Given the description of an element on the screen output the (x, y) to click on. 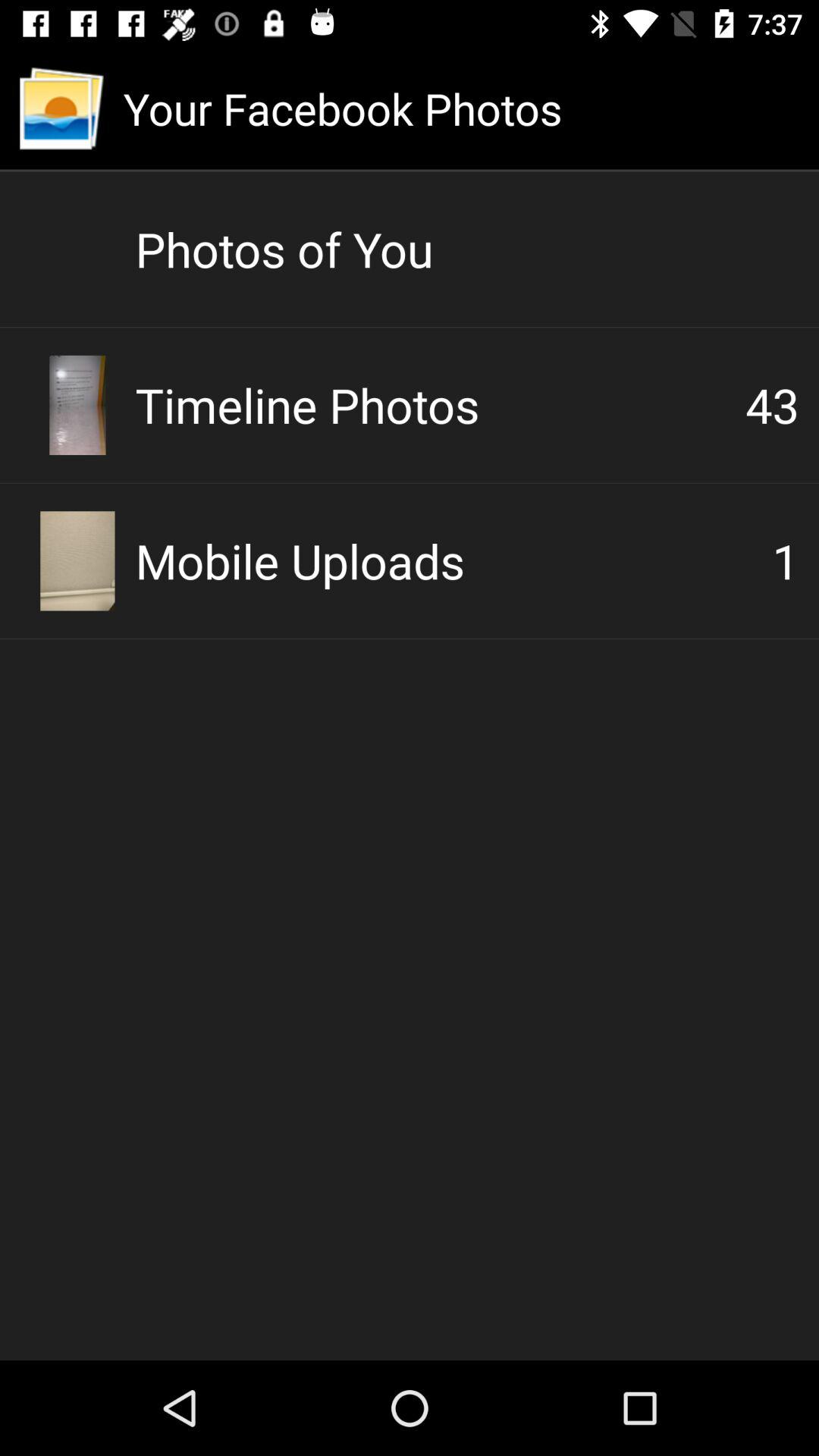
press the icon above the mobile uploads icon (772, 404)
